Given the description of an element on the screen output the (x, y) to click on. 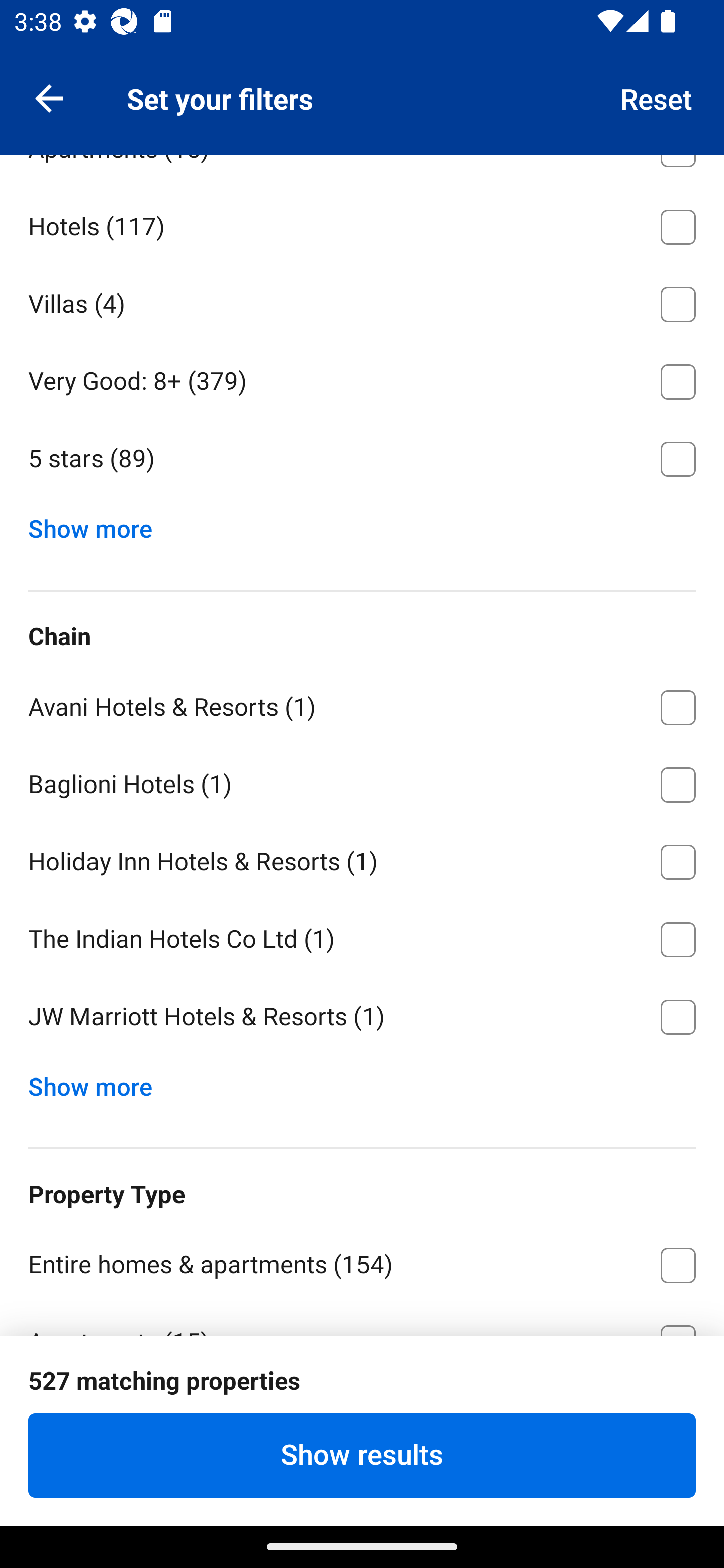
Navigate up (49, 97)
Reset (656, 97)
Hotels ⁦(117) (361, 223)
Villas ⁦(4) (361, 300)
Very Good: 8+ ⁦(379) (361, 378)
5 stars ⁦(89) (361, 459)
Show more (97, 524)
Avani Hotels & Resorts ⁦(1) (361, 703)
Baglioni Hotels ⁦(1) (361, 781)
Holiday Inn Hotels & Resorts ⁦(1) (361, 858)
The Indian Hotels Co Ltd ⁦(1) (361, 935)
JW Marriott Hotels & Resorts ⁦(1) (361, 1017)
Show more (97, 1082)
Entire homes & apartments ⁦(154) (361, 1261)
Show results (361, 1454)
